Given the description of an element on the screen output the (x, y) to click on. 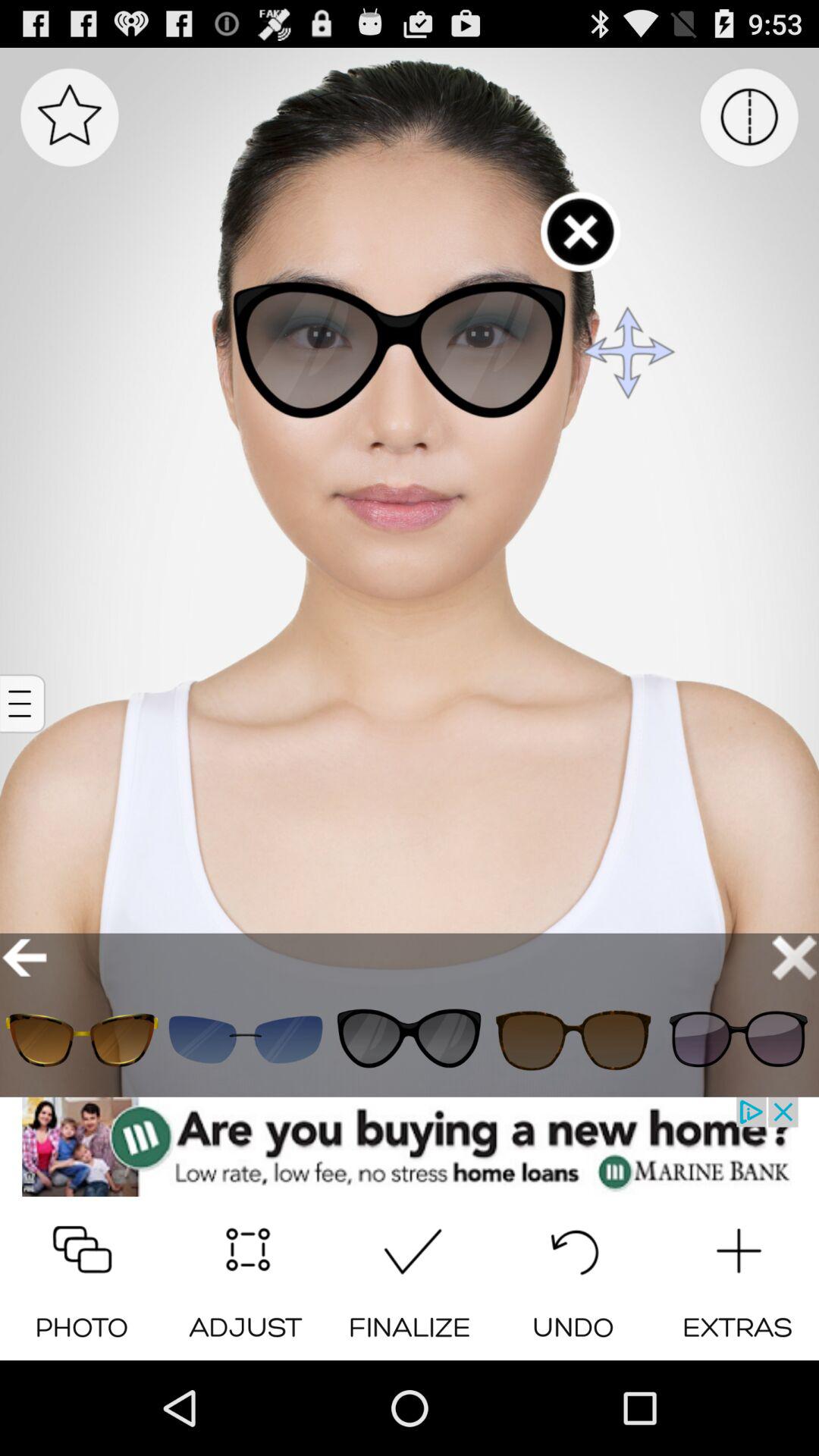
fashion pagae (245, 1039)
